Given the description of an element on the screen output the (x, y) to click on. 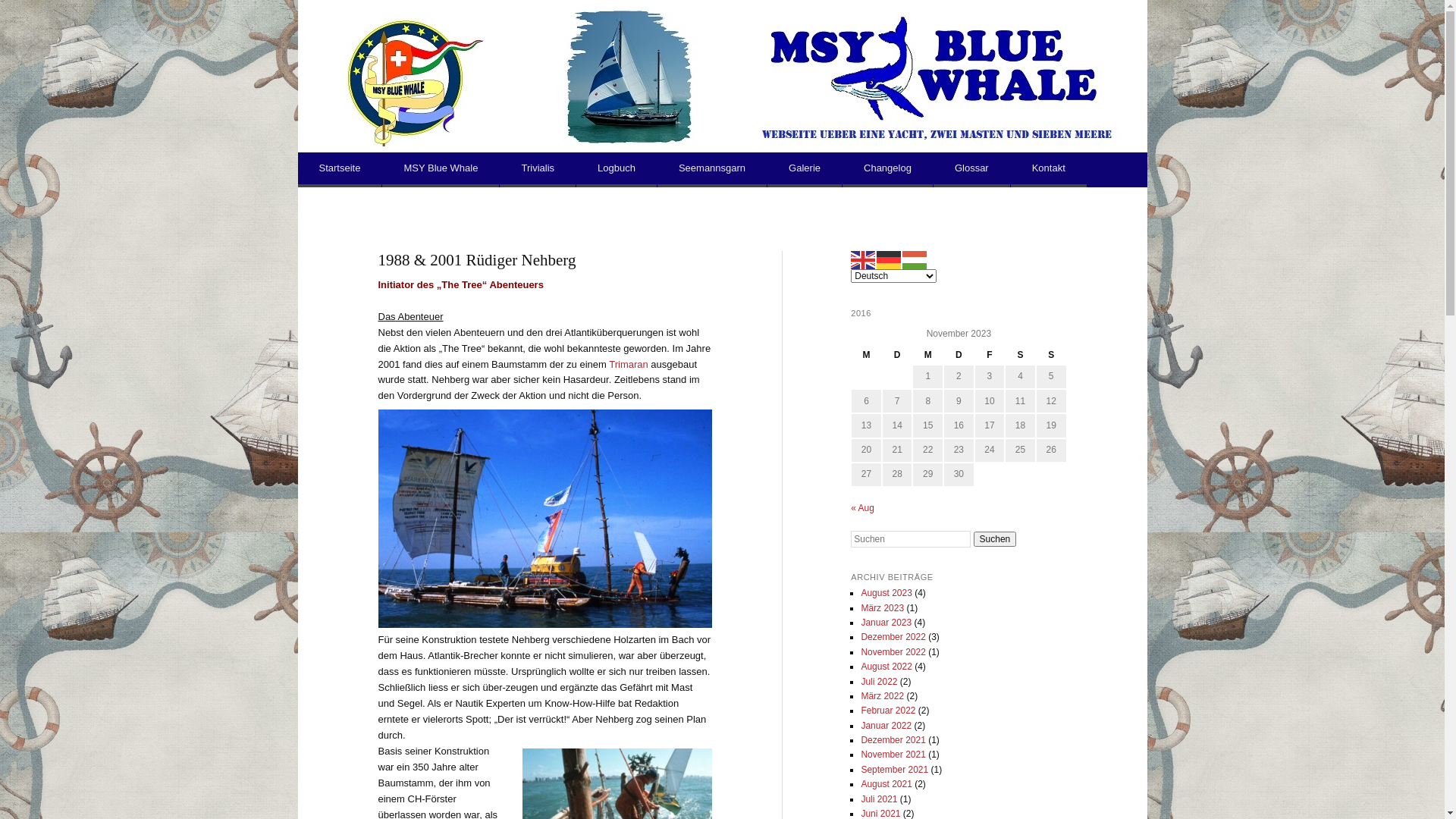
Trimaran Element type: text (628, 363)
Logbuch Element type: text (616, 169)
Februar 2022 Element type: text (887, 710)
Dezember 2021 Element type: text (892, 739)
Januar 2022 Element type: text (885, 725)
Juli 2022 Element type: text (878, 681)
November 2021 Element type: text (892, 754)
Seemannsgarn Element type: text (711, 169)
Changelog Element type: text (887, 169)
September 2021 Element type: text (894, 769)
Trivialis Element type: text (537, 169)
Deutsch Element type: hover (889, 259)
Startseite Element type: text (339, 169)
Glossar Element type: text (971, 169)
Blue Whale Element type: text (802, 9)
Juli 2021 Element type: text (878, 798)
English Element type: hover (863, 259)
Januar 2023 Element type: text (885, 622)
MSY Blue Whale Element type: text (440, 169)
Springe zum Inhalt Element type: text (359, 169)
August 2023 Element type: text (885, 592)
Galerie Element type: text (804, 169)
Kontakt Element type: text (1048, 169)
Magyar Element type: hover (915, 259)
Dezember 2022 Element type: text (892, 636)
Suchen Element type: text (994, 538)
August 2022 Element type: text (885, 666)
November 2022 Element type: text (892, 651)
August 2021 Element type: text (885, 783)
